Given the description of an element on the screen output the (x, y) to click on. 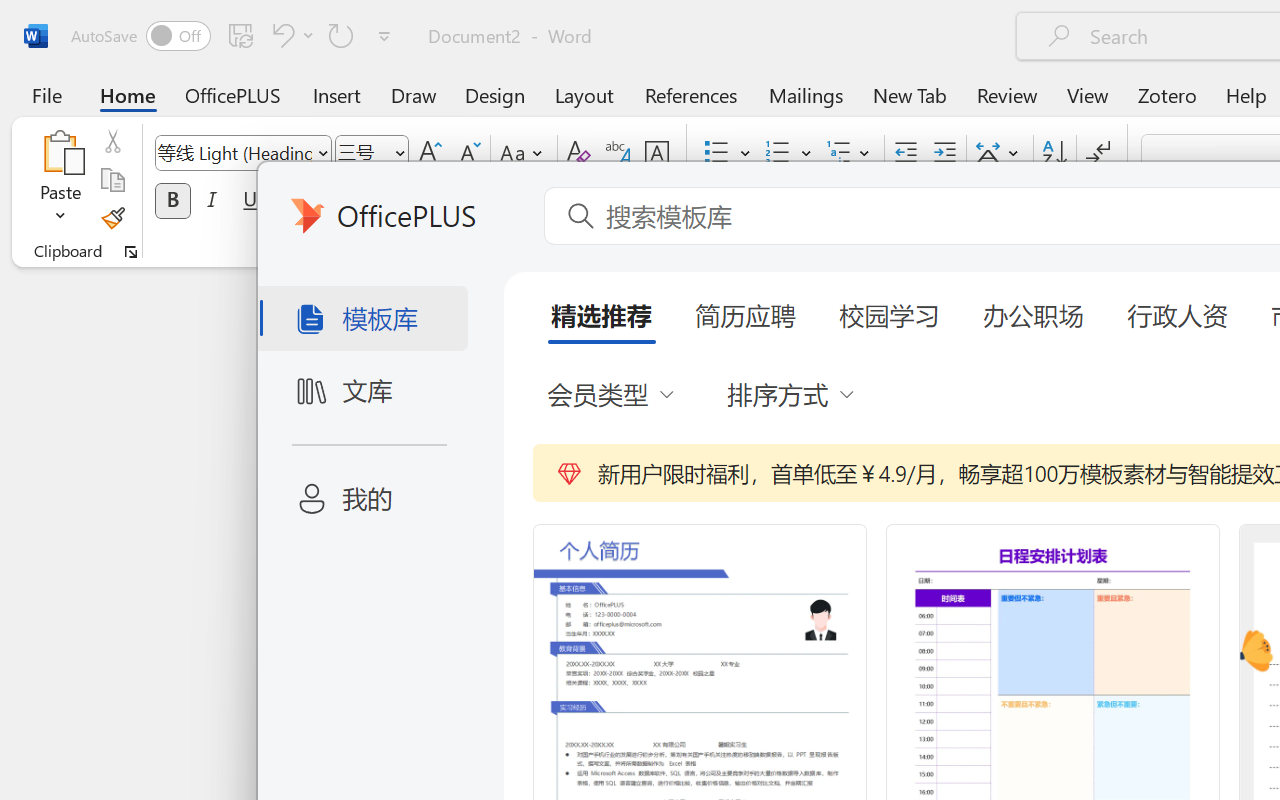
Undo Typing (280, 35)
Copy (112, 179)
Save (241, 35)
Quick Access Toolbar (233, 36)
File Tab (46, 94)
AutoSave (140, 35)
Zotero (1166, 94)
View (1087, 94)
OfficePLUS (233, 94)
